Given the description of an element on the screen output the (x, y) to click on. 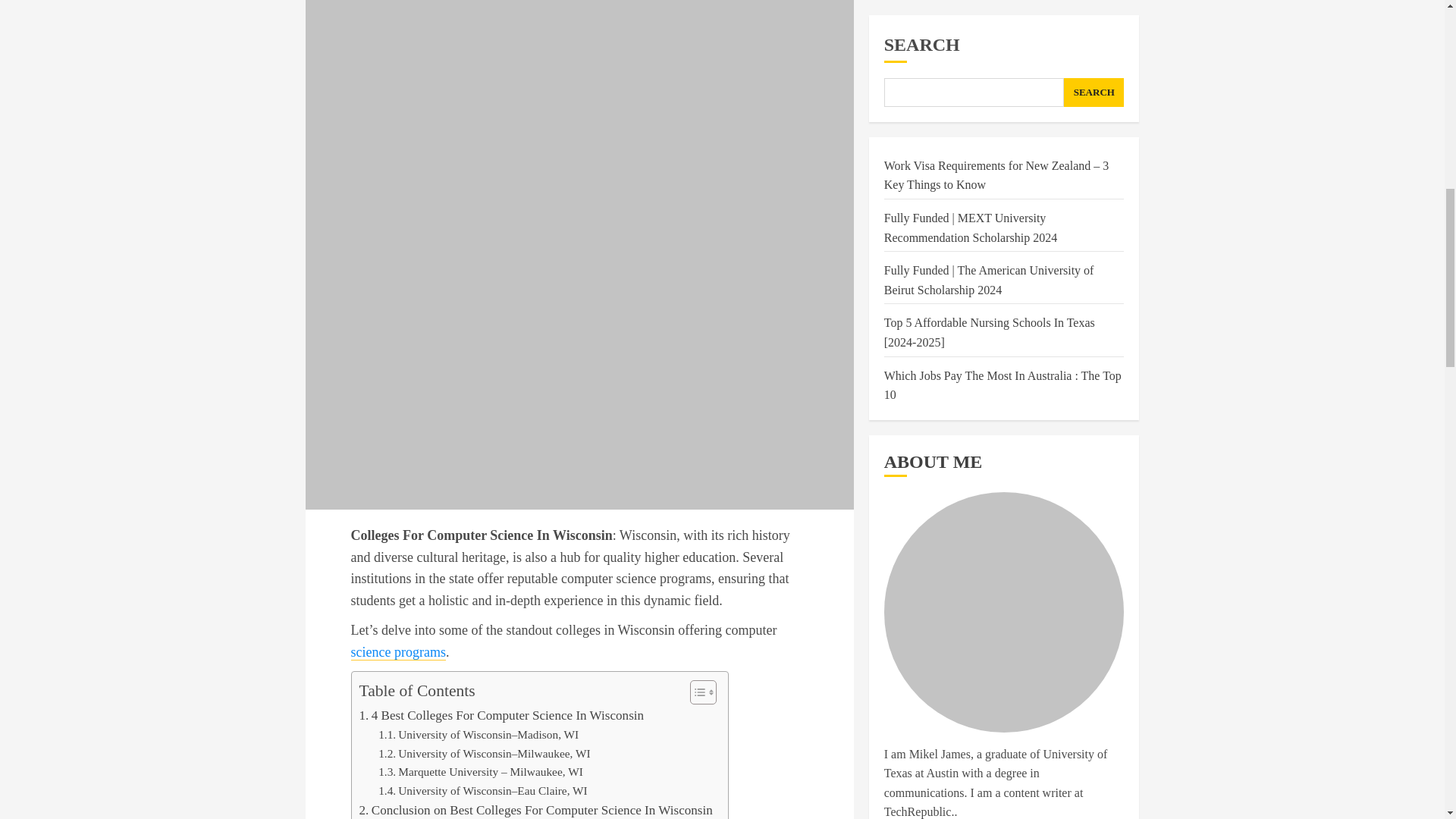
science programs (397, 652)
4 Best Colleges For Computer Science In Wisconsin (502, 715)
4 Best Colleges For Computer Science In Wisconsin (502, 715)
